Given the description of an element on the screen output the (x, y) to click on. 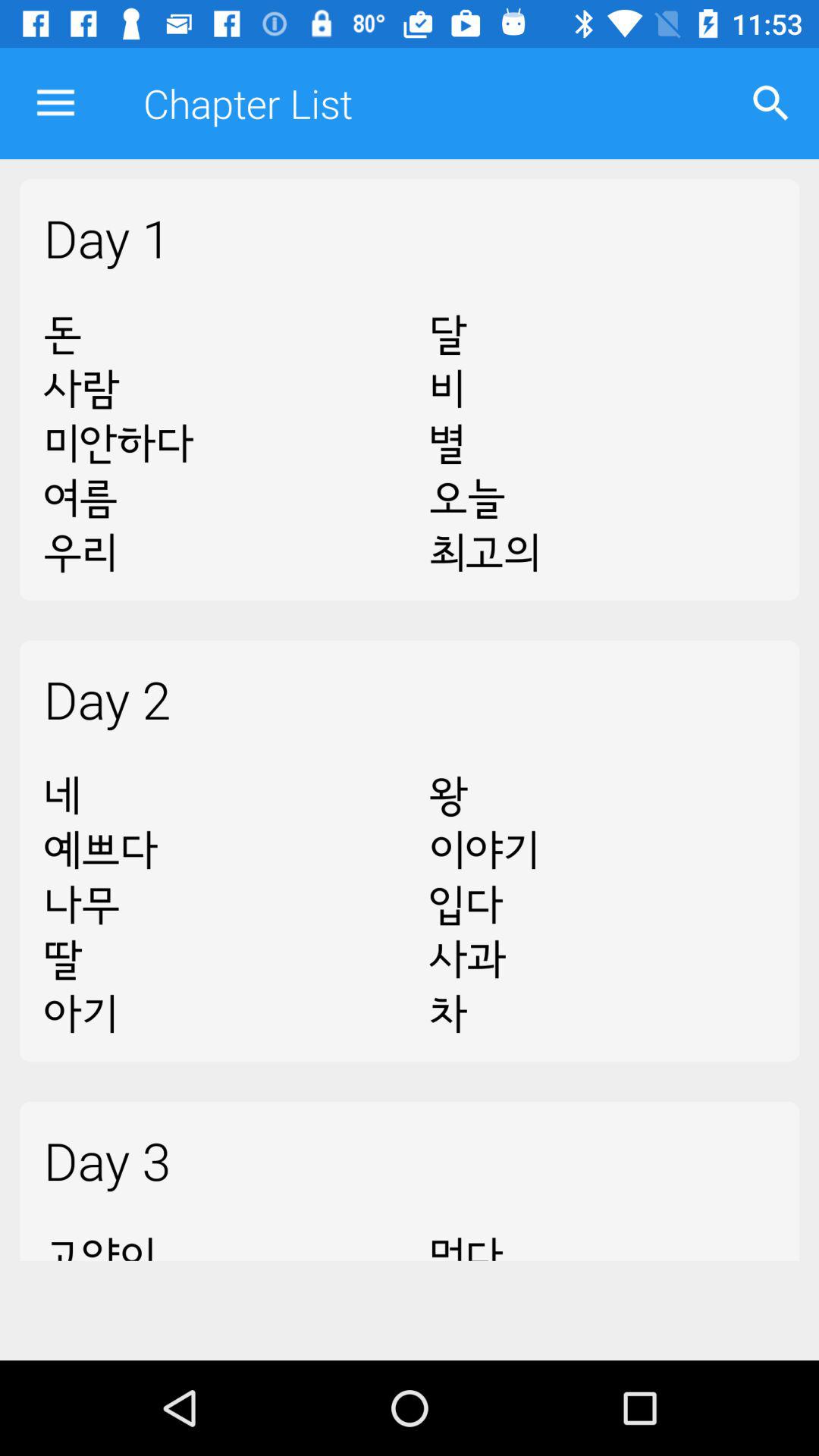
click item below day 3 item (216, 1237)
